Given the description of an element on the screen output the (x, y) to click on. 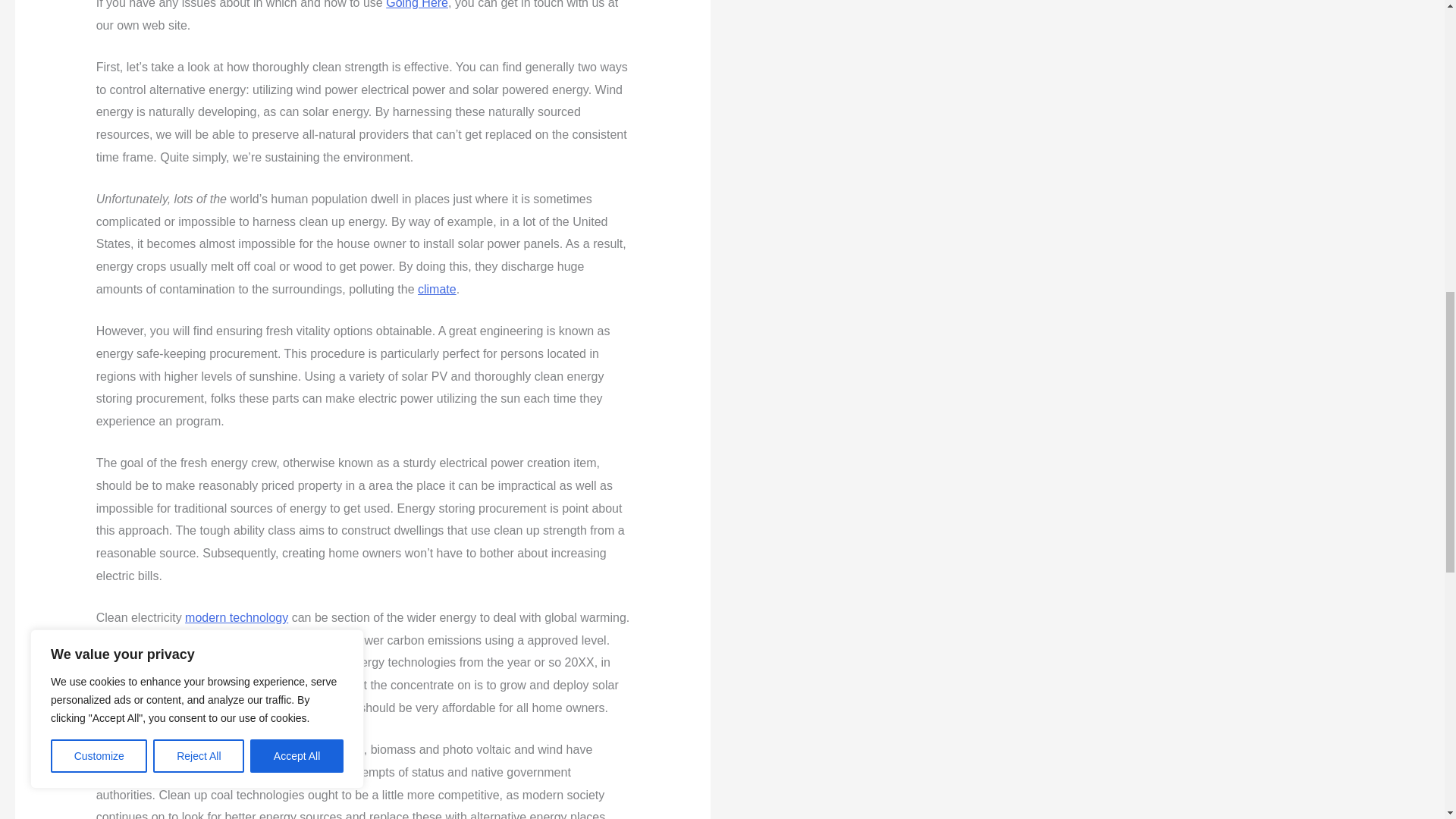
modern technology (236, 617)
Going Here (416, 4)
climate (437, 288)
